Given the description of an element on the screen output the (x, y) to click on. 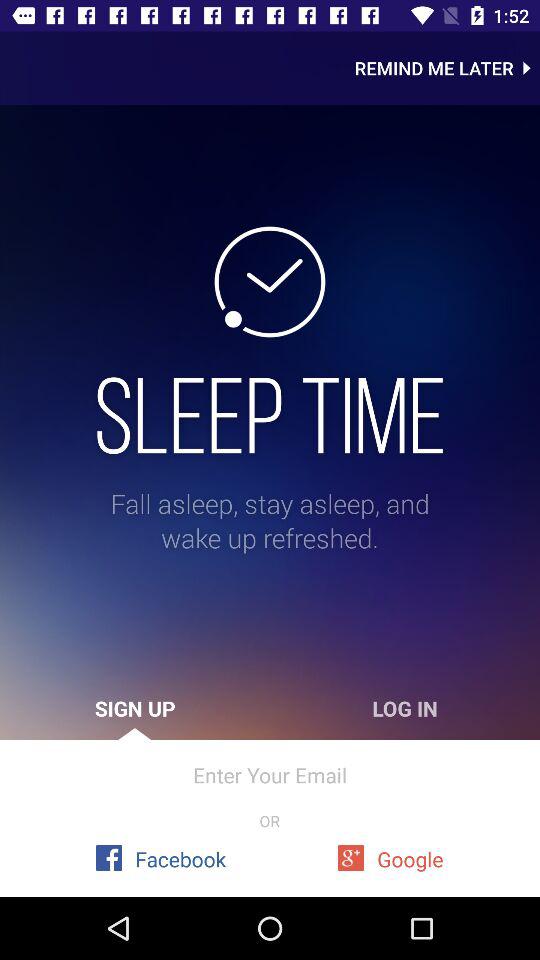
tap item above fall asleep stay (270, 415)
